Given the description of an element on the screen output the (x, y) to click on. 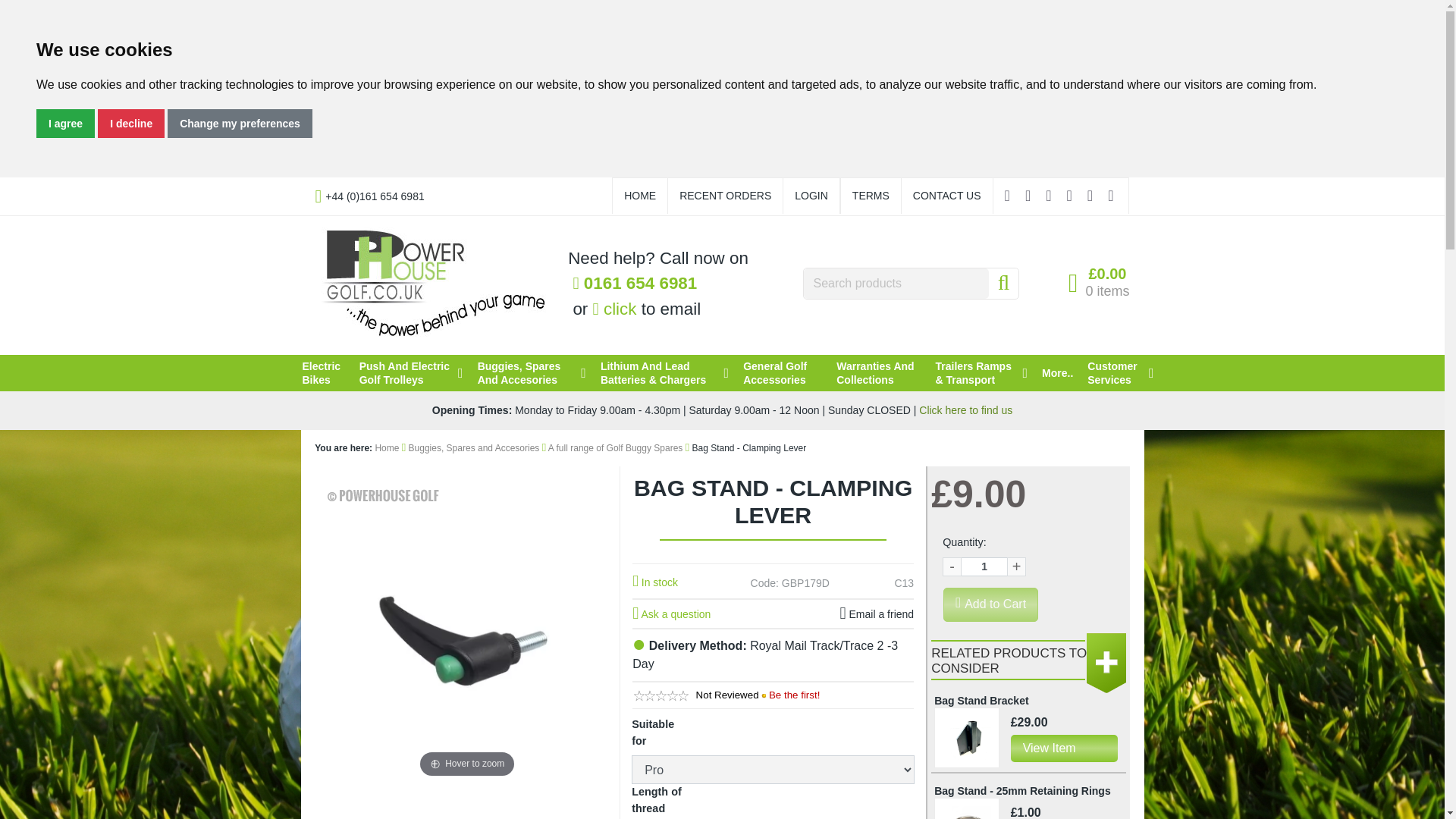
HOME (640, 195)
click (614, 309)
LOGIN (811, 195)
Powerhouse Golf Powerhouse Golf (432, 283)
RECENT ORDERS (725, 195)
Buggies, Spares And Accesories (531, 372)
Opens a widget where you can chat to one of our agents (1386, 792)
0161 654 6981 (634, 283)
I agree (65, 123)
Push And Electric Golf Trolleys (411, 372)
1 (983, 566)
Change my preferences (240, 123)
TERMS (870, 195)
Electric Bikes (322, 372)
I decline (130, 123)
